Given the description of an element on the screen output the (x, y) to click on. 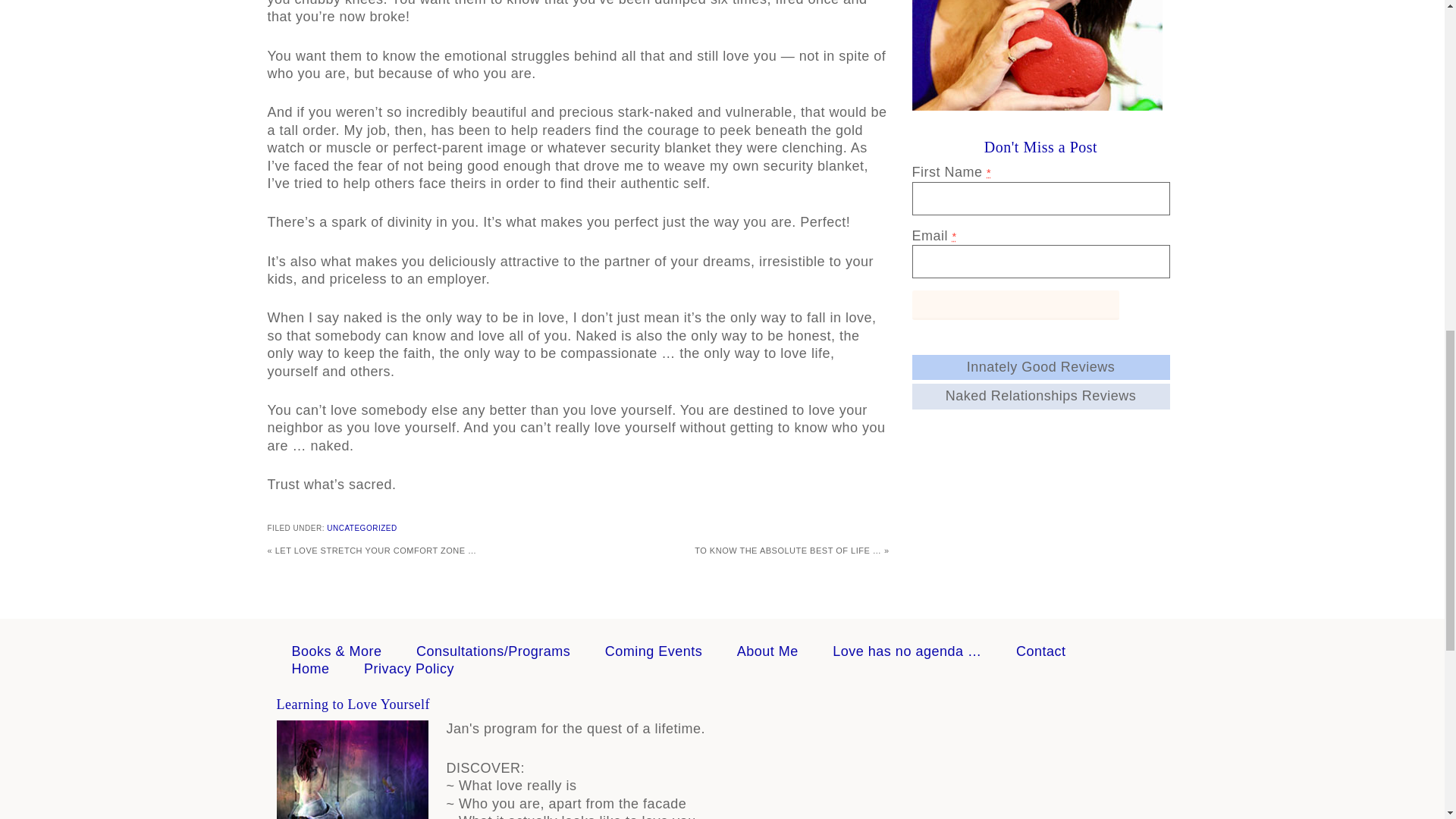
Naked Relationships Reviews (1040, 395)
Sign up for Newsletter (1015, 305)
Sign up for Newsletter (1015, 305)
Home (310, 668)
UNCATEGORIZED (361, 528)
Coming Events (654, 651)
Innately Good Reviews (1040, 366)
About Me (766, 651)
Contact (1040, 651)
Privacy Policy (409, 668)
